Given the description of an element on the screen output the (x, y) to click on. 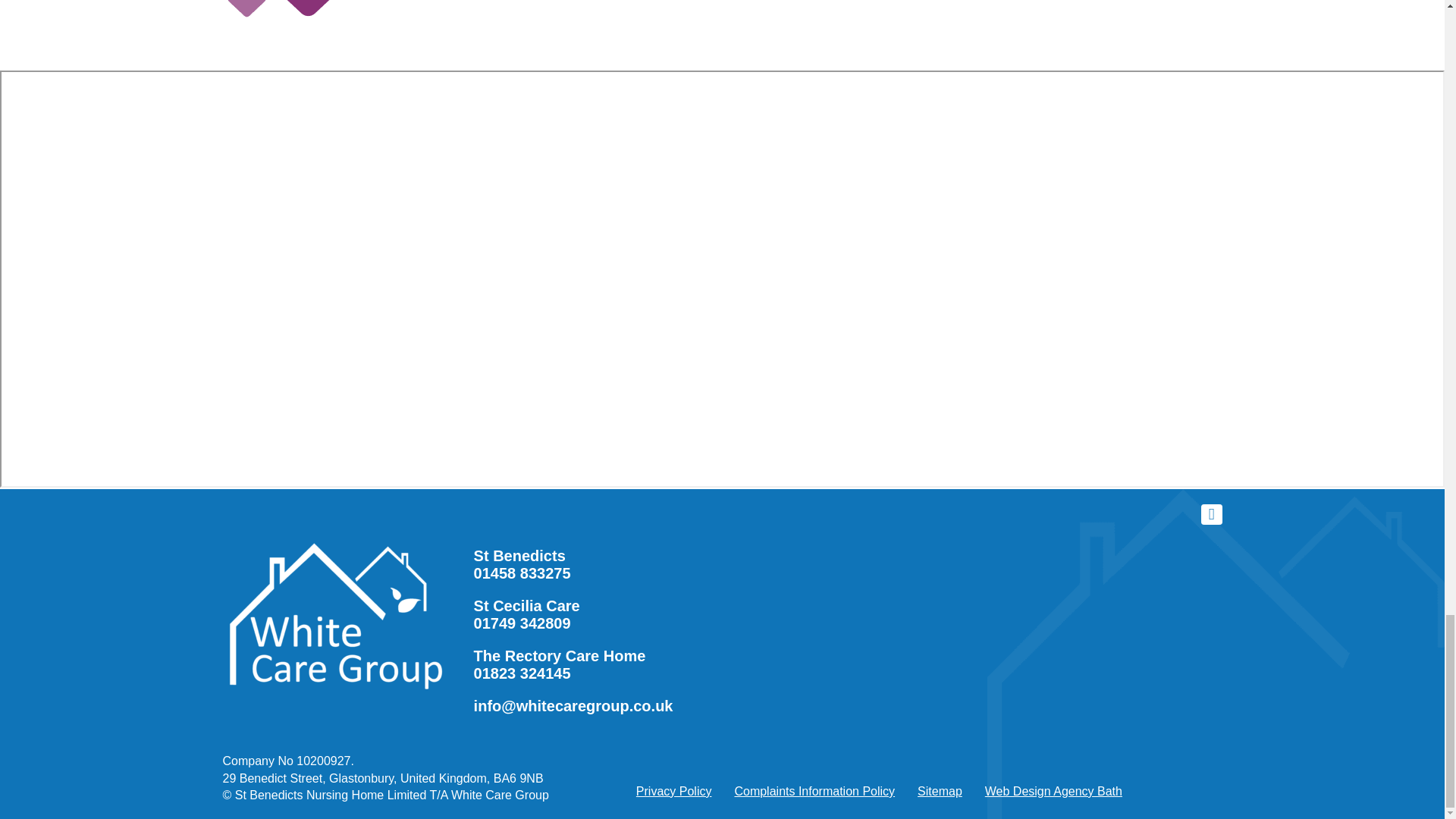
01749 342809 (522, 623)
Privacy Policy (673, 790)
01458 833275 (522, 573)
Complaints Information Policy (814, 790)
White Care Group on Facebook (1212, 514)
01823 324145 (522, 673)
